Given the description of an element on the screen output the (x, y) to click on. 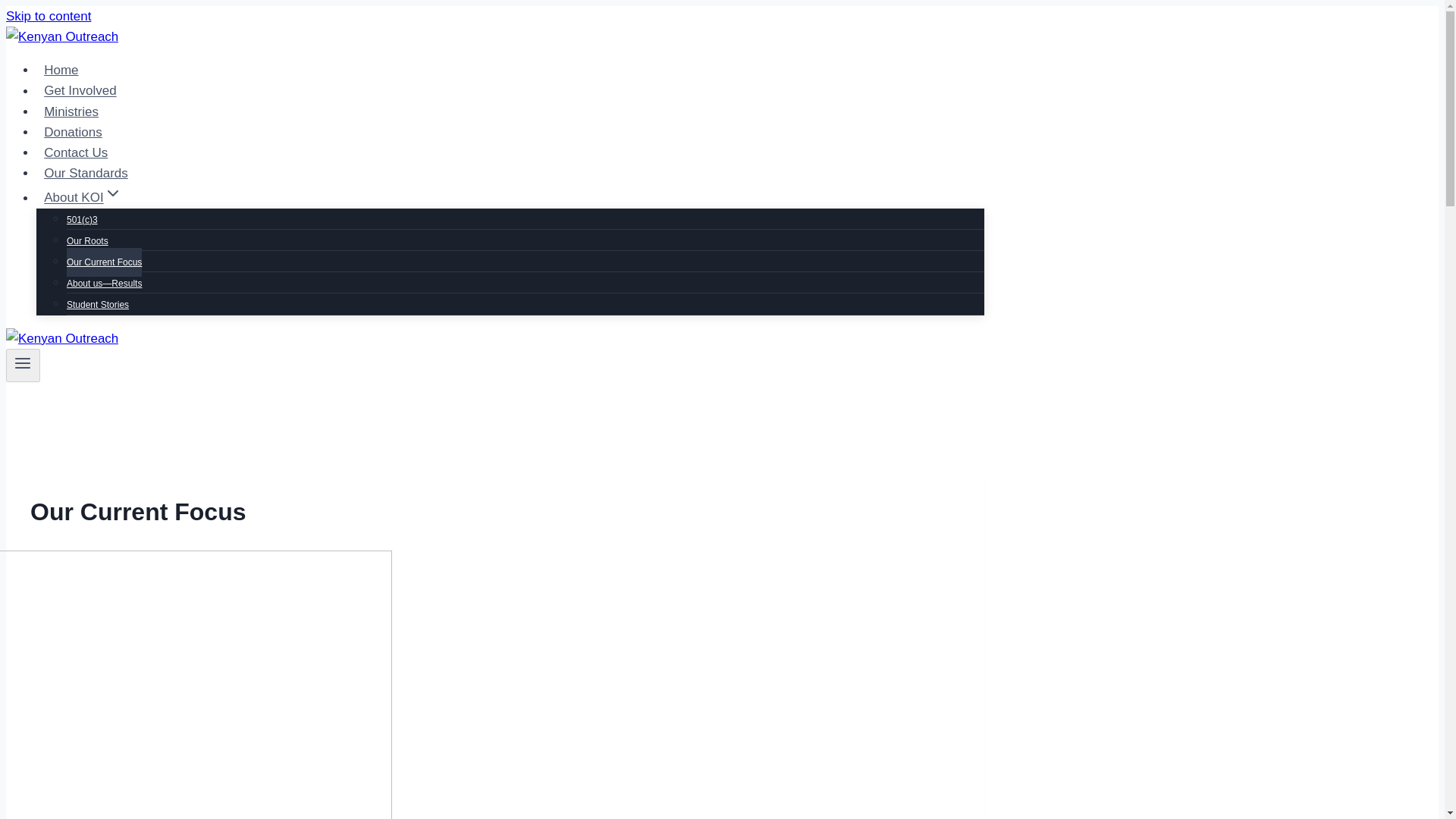
Our Standards (85, 173)
Toggle Menu (22, 362)
Home (60, 70)
Our Roots (86, 240)
Ministries (71, 111)
Donations (73, 132)
Expand (112, 192)
Skip to content (47, 16)
Our Current Focus (103, 262)
Student Stories (97, 304)
